Given the description of an element on the screen output the (x, y) to click on. 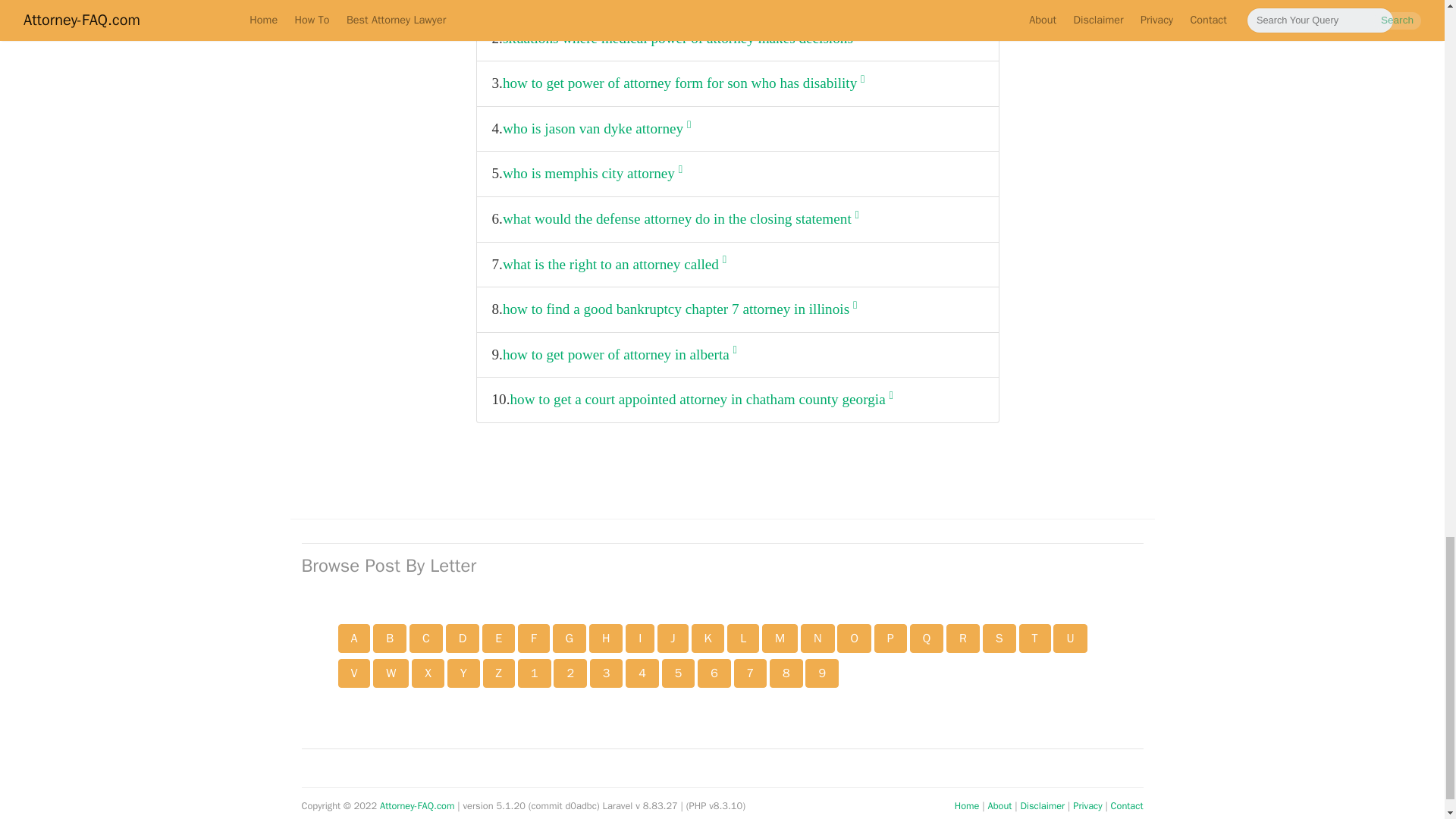
who is memphis city attorney (592, 173)
O (853, 638)
A (354, 638)
N (817, 638)
F (534, 638)
J (672, 638)
what would the defense attorney do in the closing statement (680, 219)
M (779, 638)
